Given the description of an element on the screen output the (x, y) to click on. 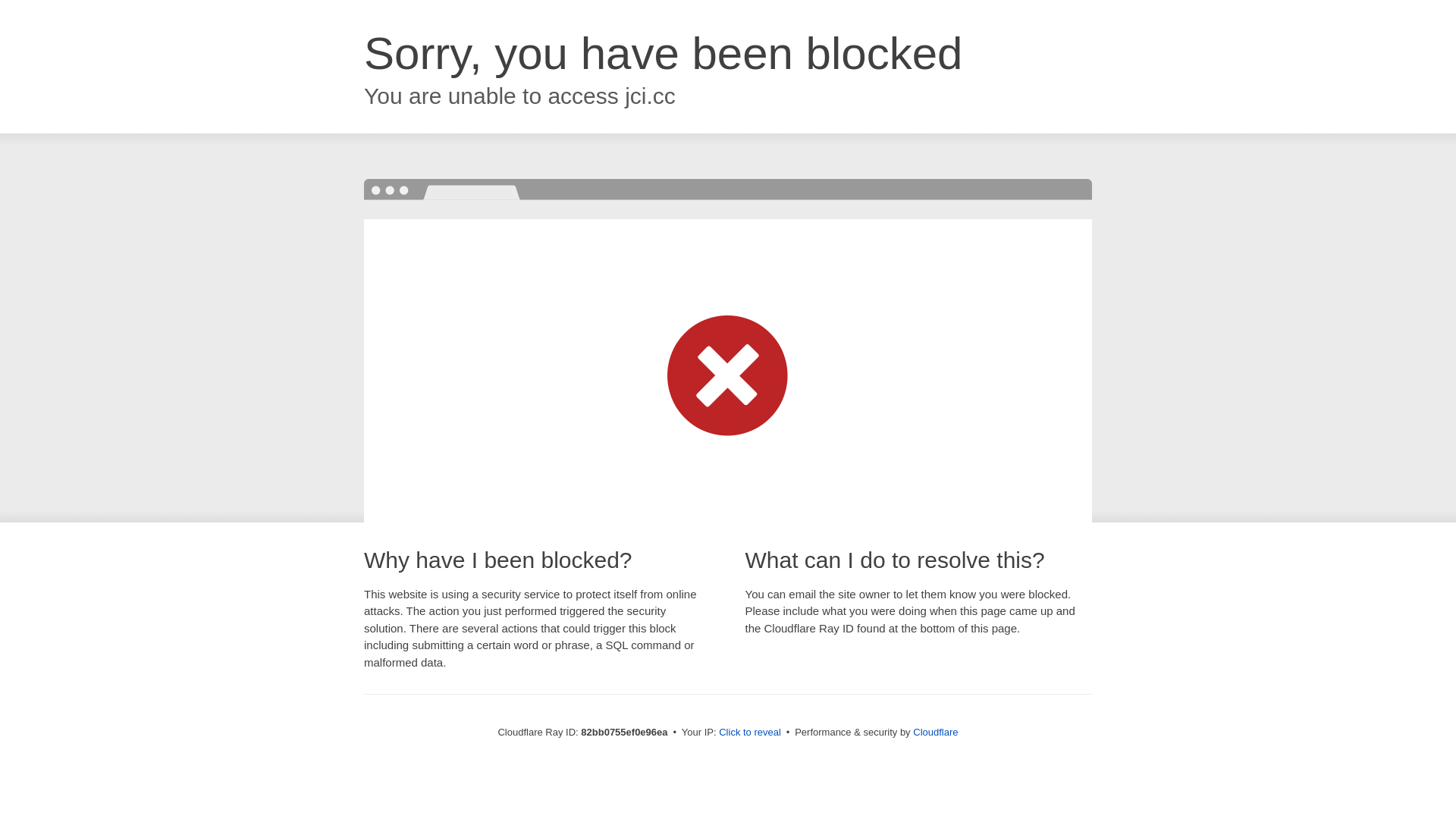
Cloudflare Element type: text (935, 731)
Click to reveal Element type: text (749, 732)
